Given the description of an element on the screen output the (x, y) to click on. 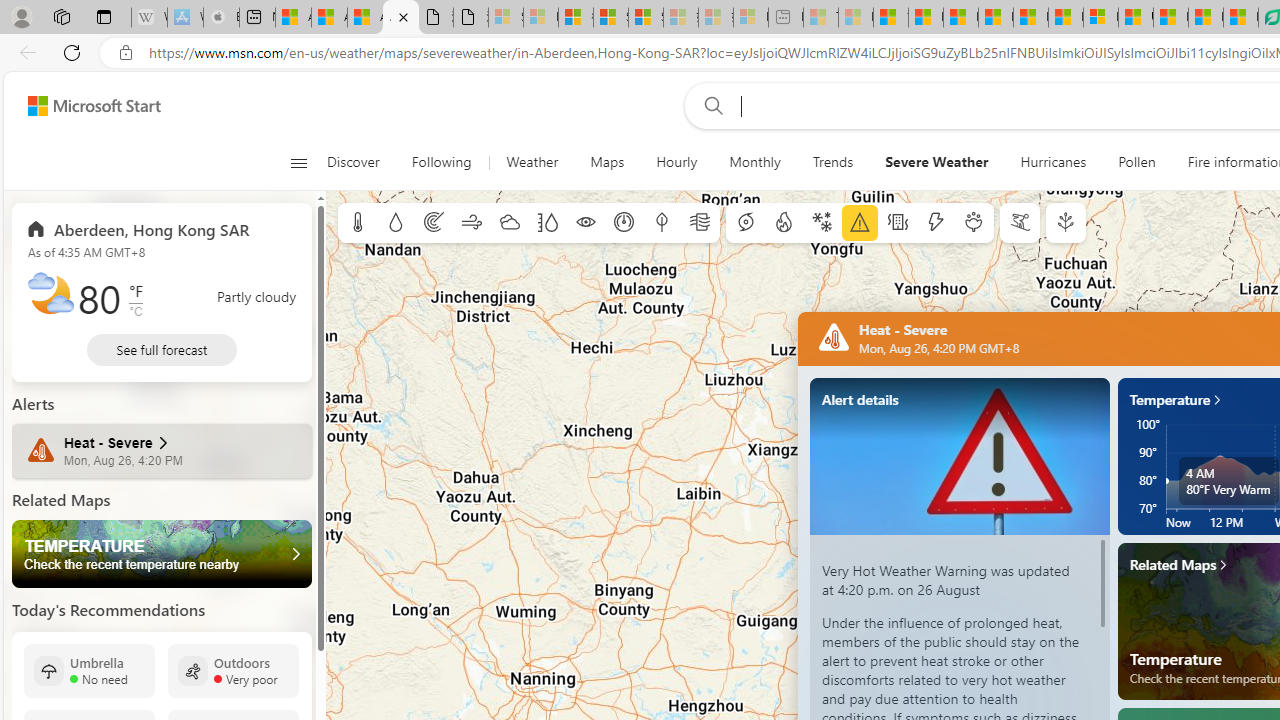
Aberdeen, Hong Kong SAR severe weather | Microsoft Weather (401, 17)
E-tree (1066, 223)
Hourly (677, 162)
Precipitation (395, 223)
Sea level pressure (623, 223)
Microsoft account | Account Checkup - Sleeping (750, 17)
Marine life - MSN - Sleeping (855, 17)
